Given the description of an element on the screen output the (x, y) to click on. 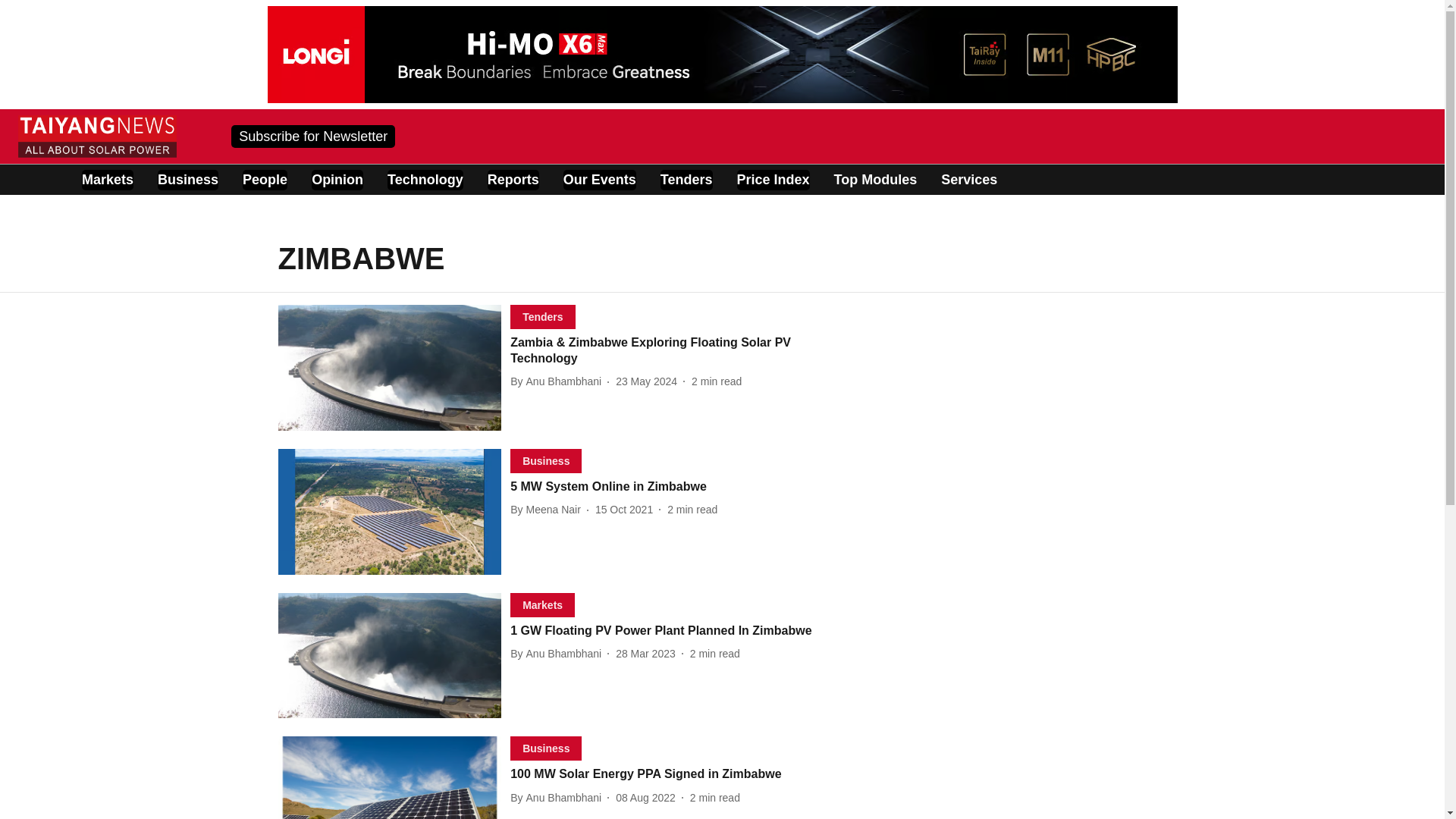
Markets (107, 179)
2023-03-28 14:17 (645, 653)
Technology (425, 179)
Business (187, 179)
2021-10-15 15:16 (559, 653)
Tenders (623, 509)
2024-05-23 08:46 (687, 179)
Markets (646, 381)
Price Index (543, 603)
5 MW System Online in Zimbabwe (548, 509)
1 GW Floating PV Power Plant Planned In Zimbabwe (772, 179)
Tenders (685, 487)
Our Events (685, 631)
